Given the description of an element on the screen output the (x, y) to click on. 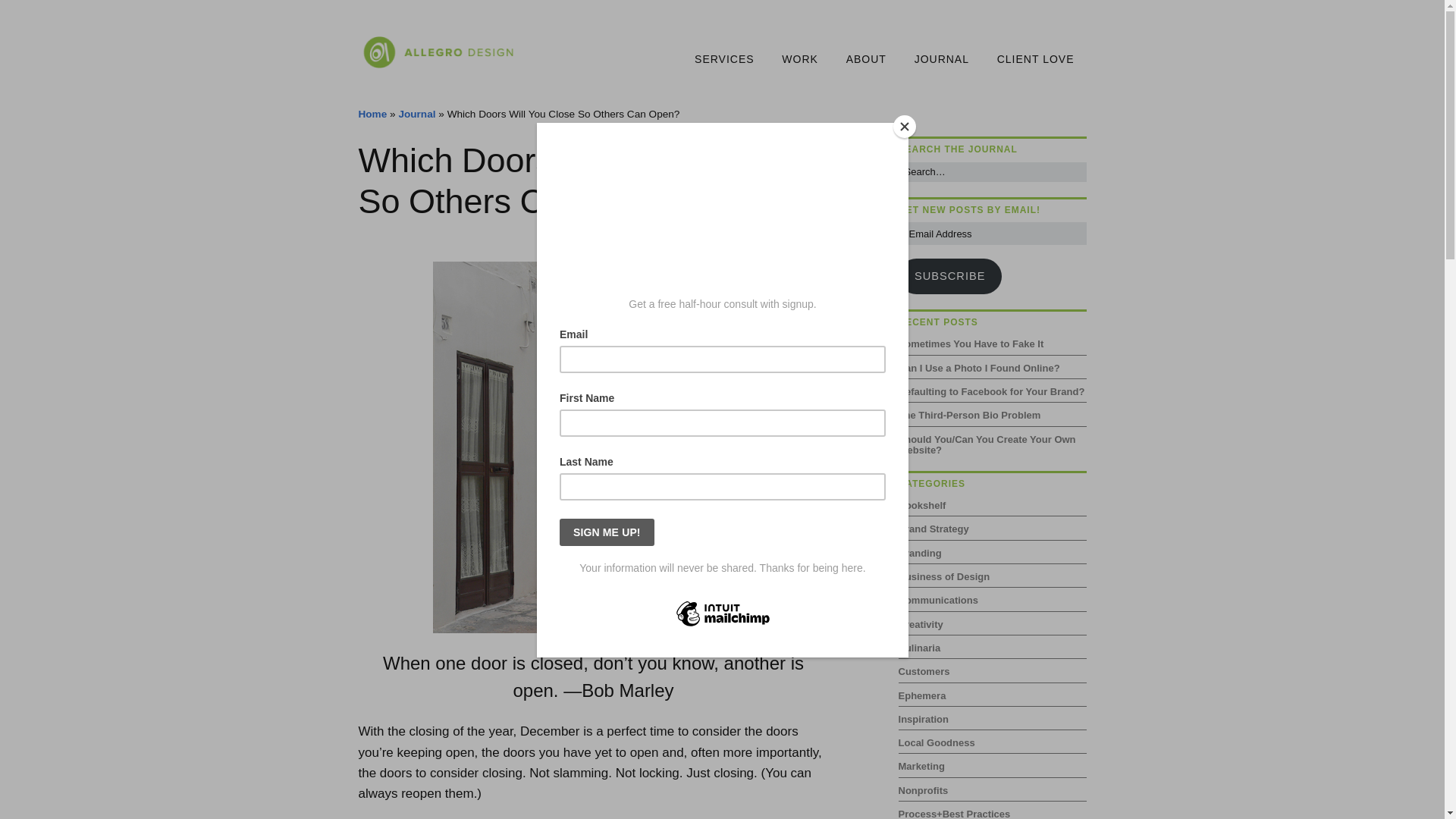
Allegro Design Portfolio (799, 60)
Sometimes You Have to Fake It (970, 343)
CLIENT LOVE (1035, 60)
Journal (416, 113)
SERVICES (724, 60)
ABOUT (866, 60)
The Third-Person Bio Problem (969, 414)
doors (593, 447)
SUBSCRIBE (949, 276)
Brand Strategy (933, 528)
Home (372, 113)
Defaulting to Facebook for Your Brand? (991, 391)
Can I Use a Photo I Found Online? (978, 367)
